Given the description of an element on the screen output the (x, y) to click on. 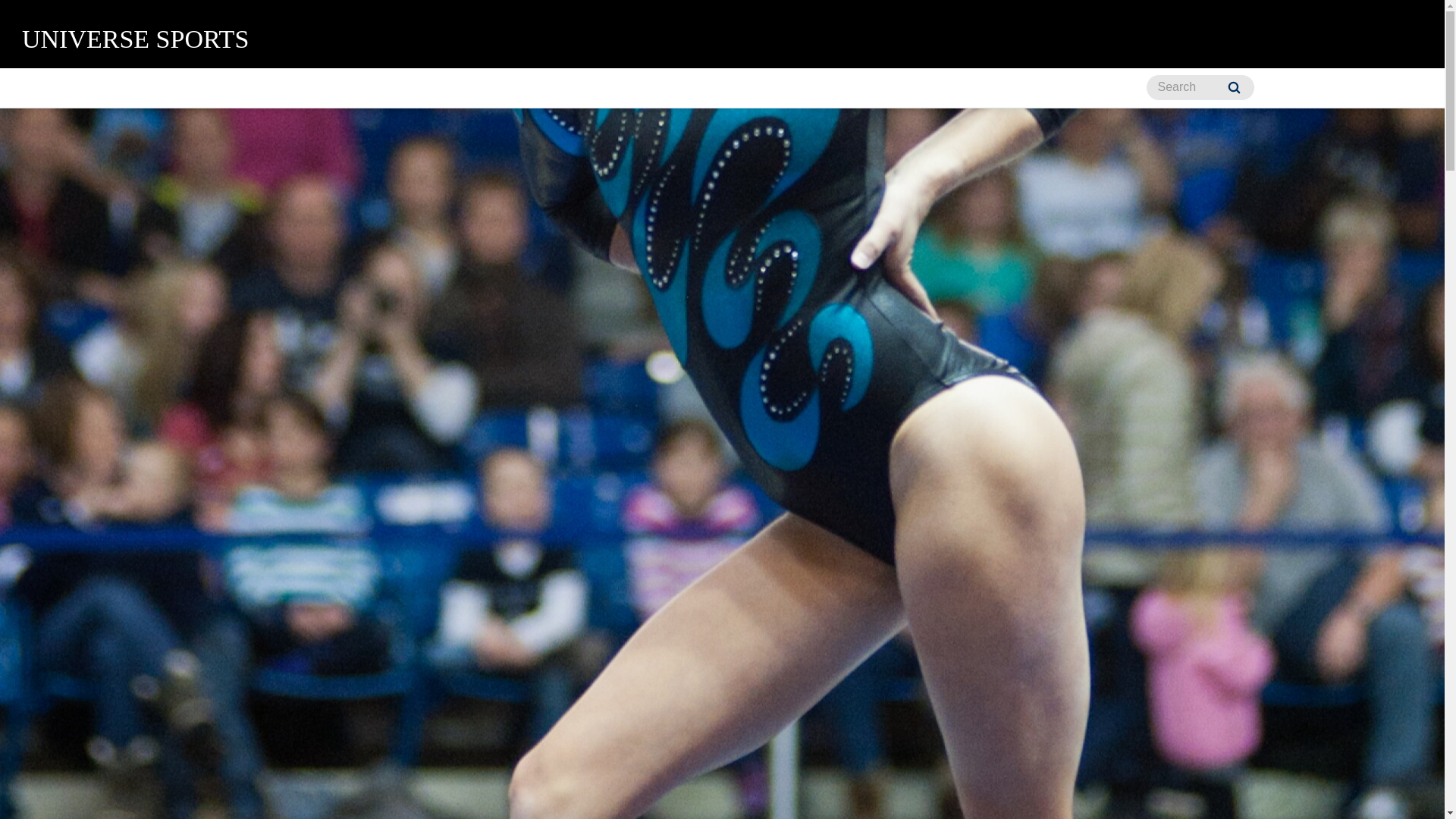
Tennis (842, 87)
Swim and Dive (748, 87)
Golf (413, 87)
Gymnastics (565, 87)
Cross Country (328, 87)
Search (1234, 87)
Soccer (479, 87)
Volleyball (1100, 87)
Softball (651, 87)
Cheer (136, 87)
